Given the description of an element on the screen output the (x, y) to click on. 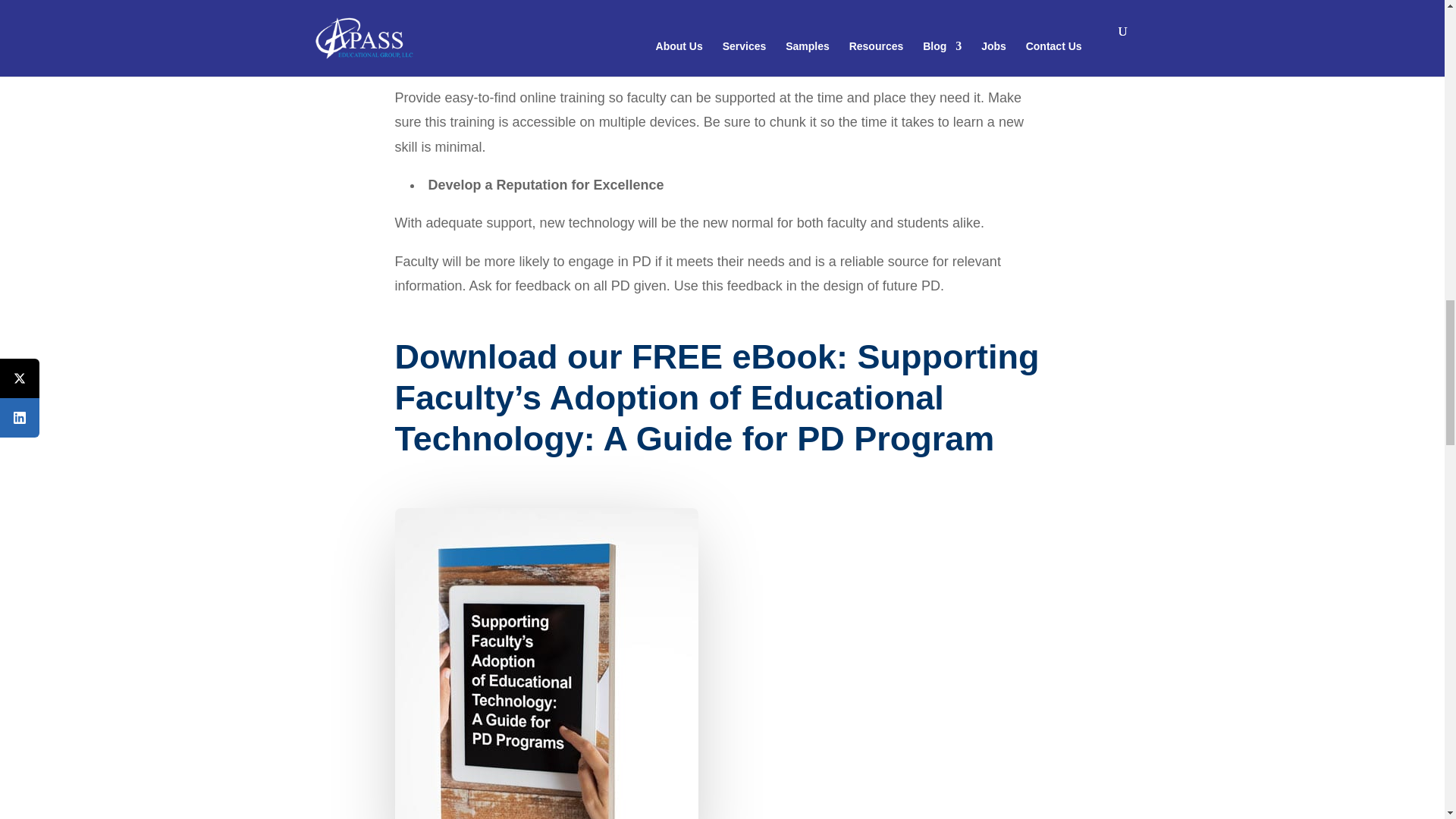
Form 0 (894, 663)
